Given the description of an element on the screen output the (x, y) to click on. 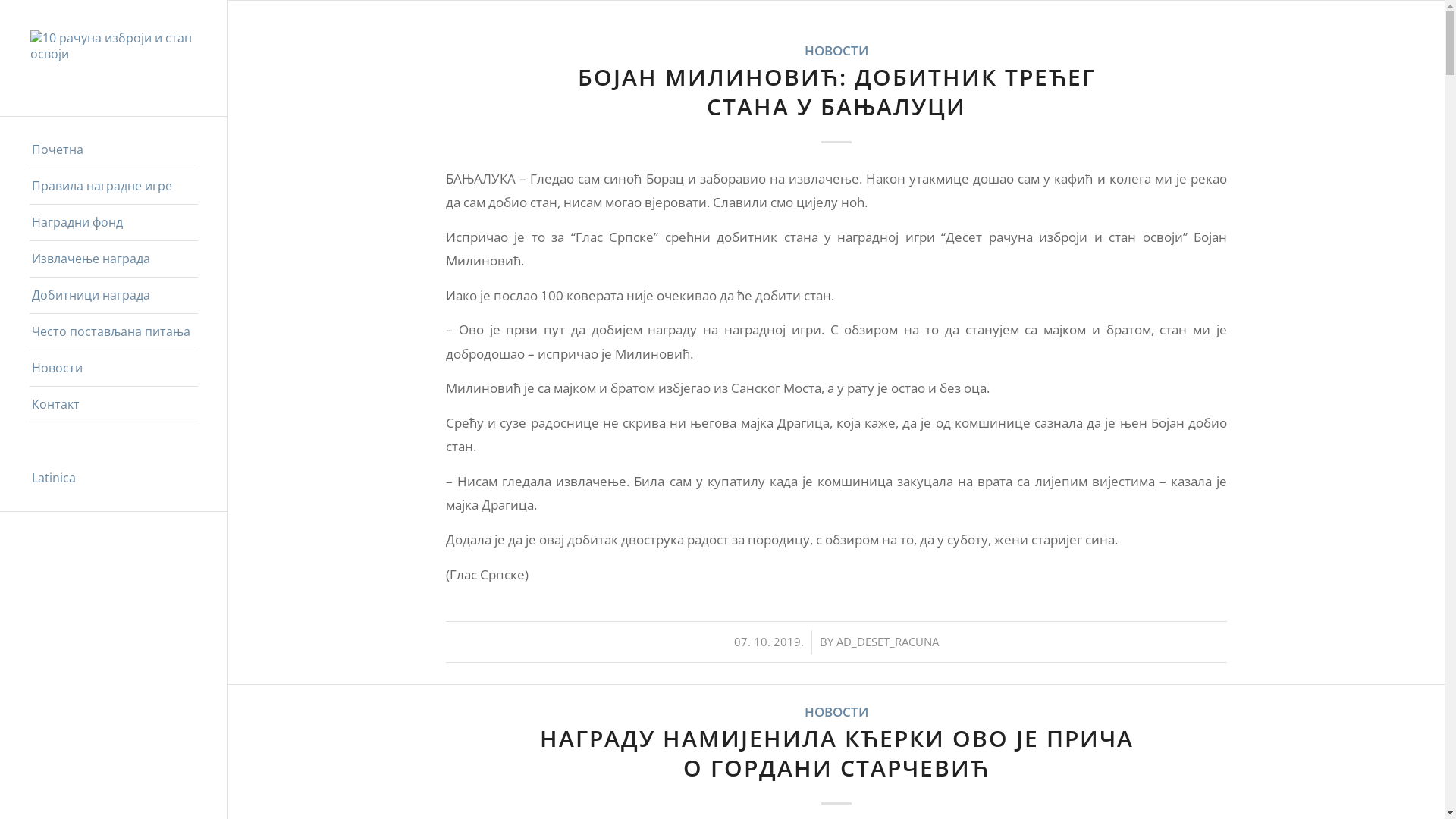
AD_DESET_RACUNA Element type: text (887, 641)
